Given the description of an element on the screen output the (x, y) to click on. 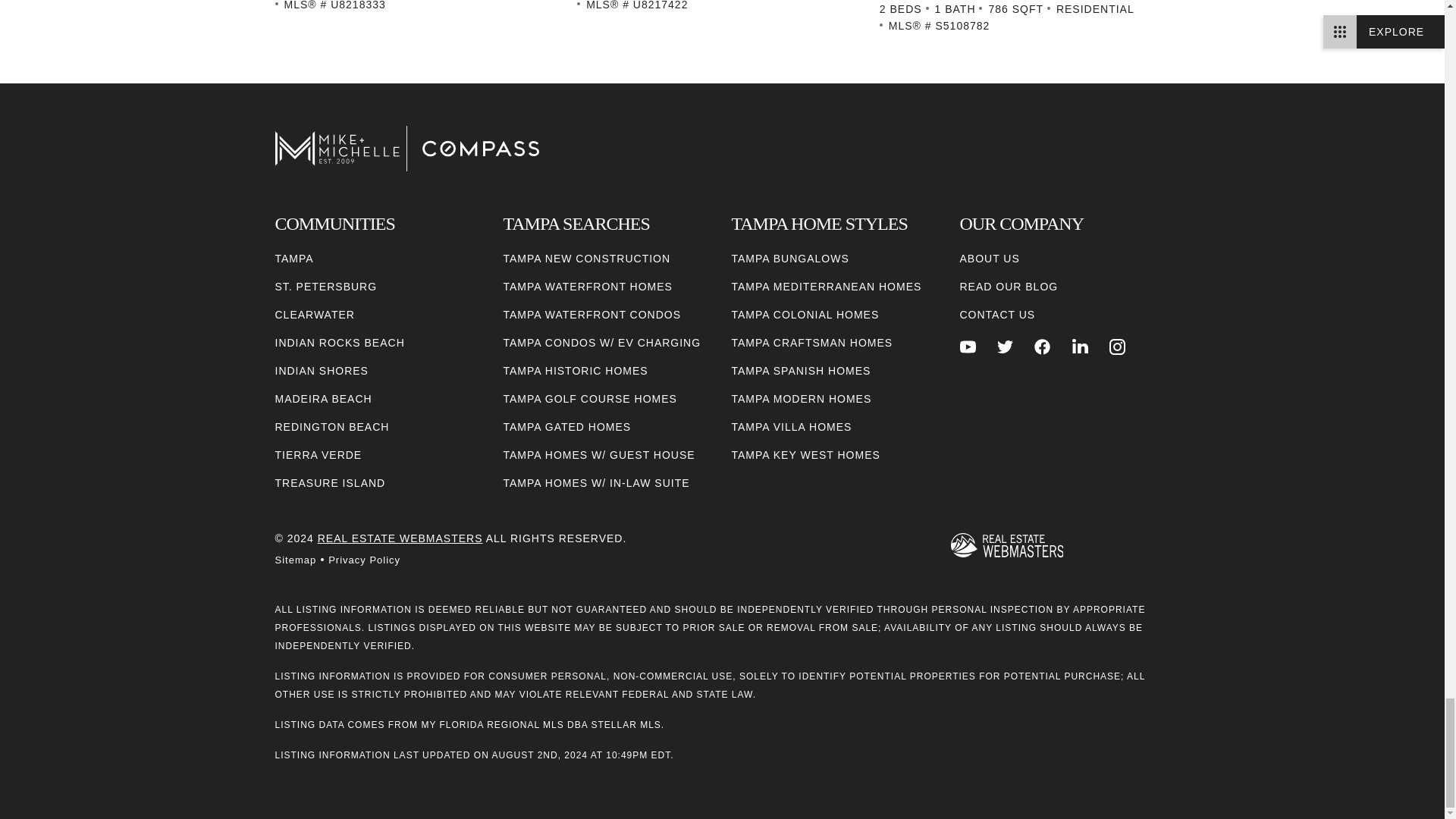
LINKEDIN (1079, 346)
YOUTUBE (967, 346)
TWITTER (1005, 346)
FACEBOOK (1041, 346)
